Given the description of an element on the screen output the (x, y) to click on. 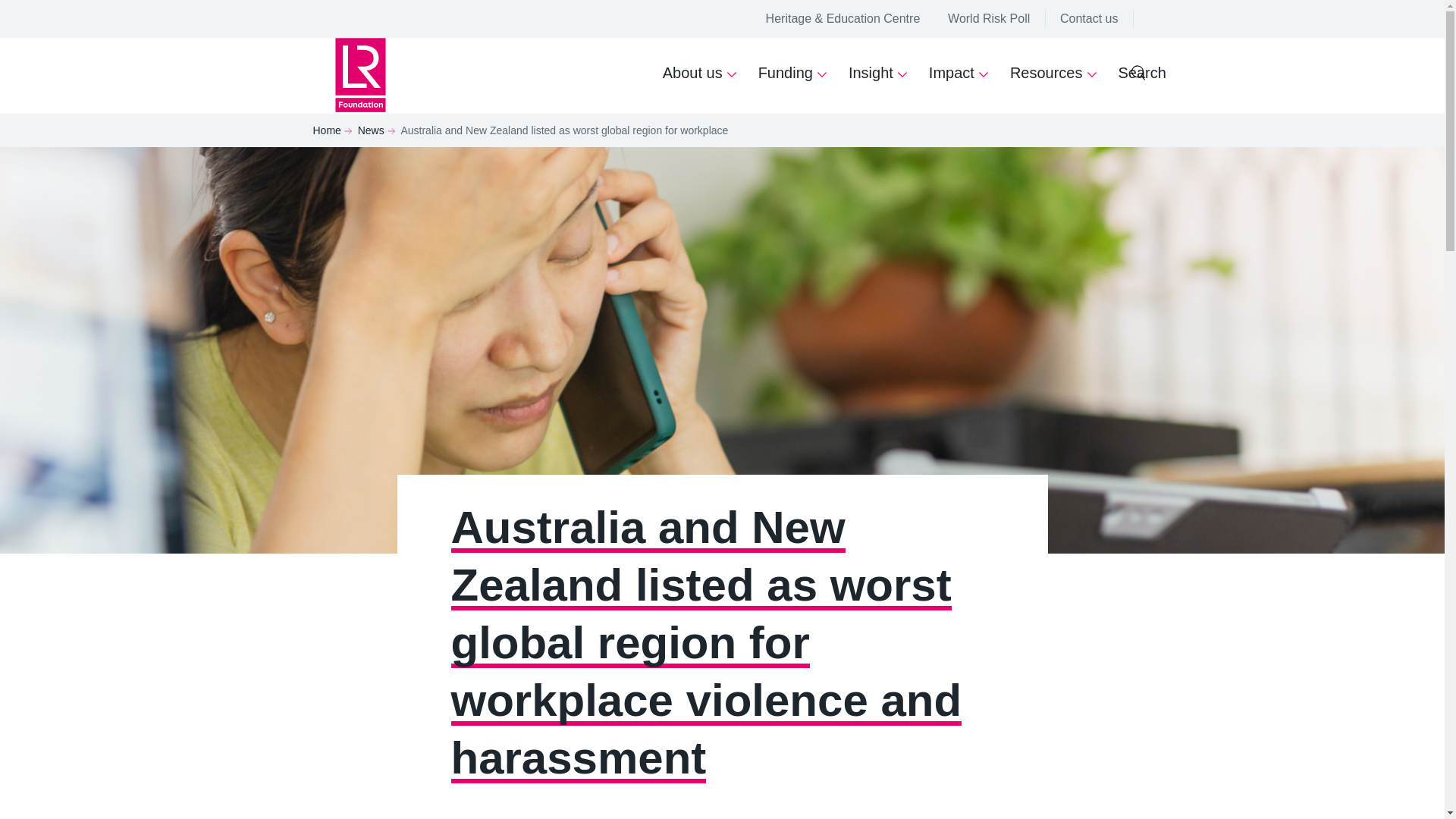
World Risk Poll (988, 19)
About us (700, 75)
About us (914, 602)
Contact us (1088, 19)
Contact us (920, 579)
Apply for funding (938, 626)
Funding (793, 75)
